Given the description of an element on the screen output the (x, y) to click on. 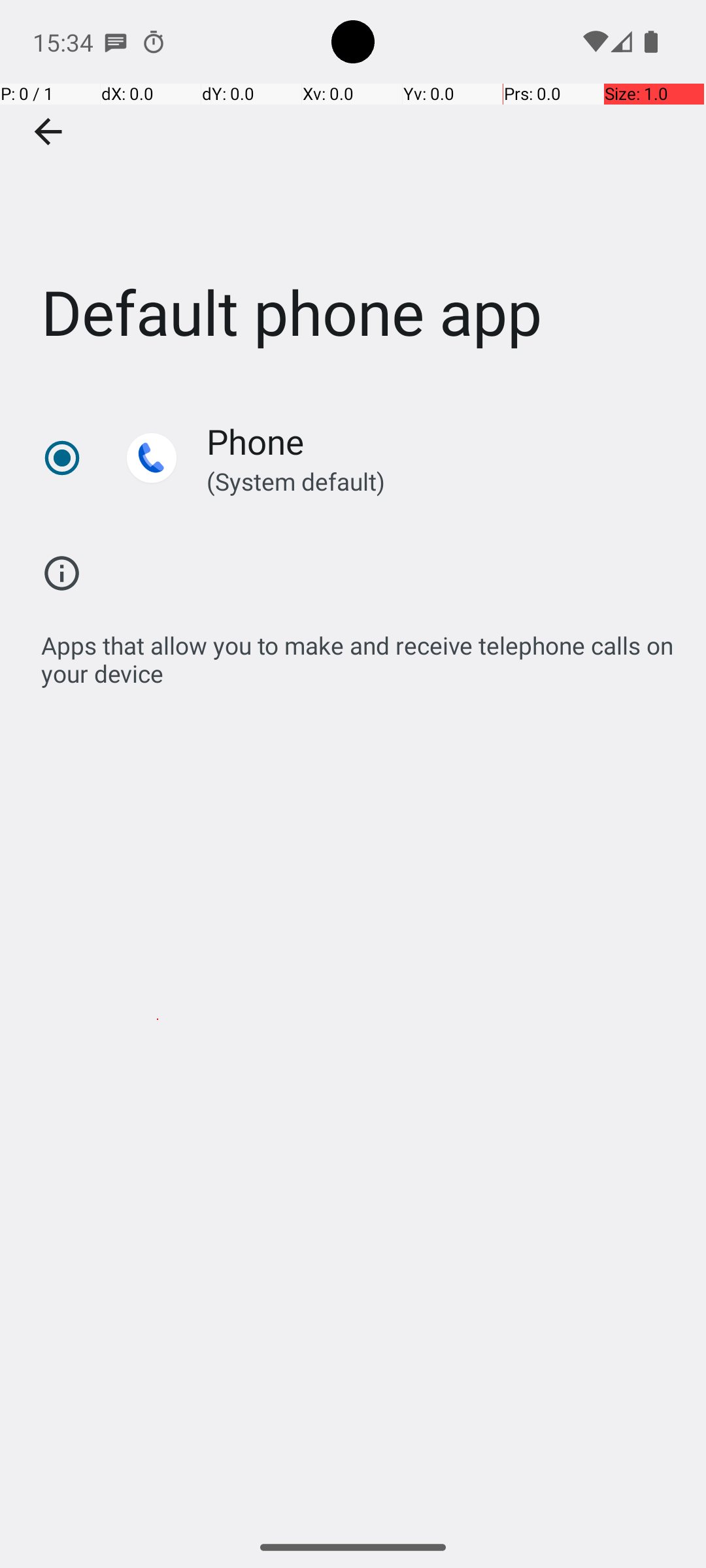
Default phone app Element type: android.widget.FrameLayout (353, 195)
(System default) Element type: android.widget.TextView (428, 480)
Apps that allow you to make and receive telephone calls on your device Element type: android.widget.TextView (359, 652)
